Given the description of an element on the screen output the (x, y) to click on. 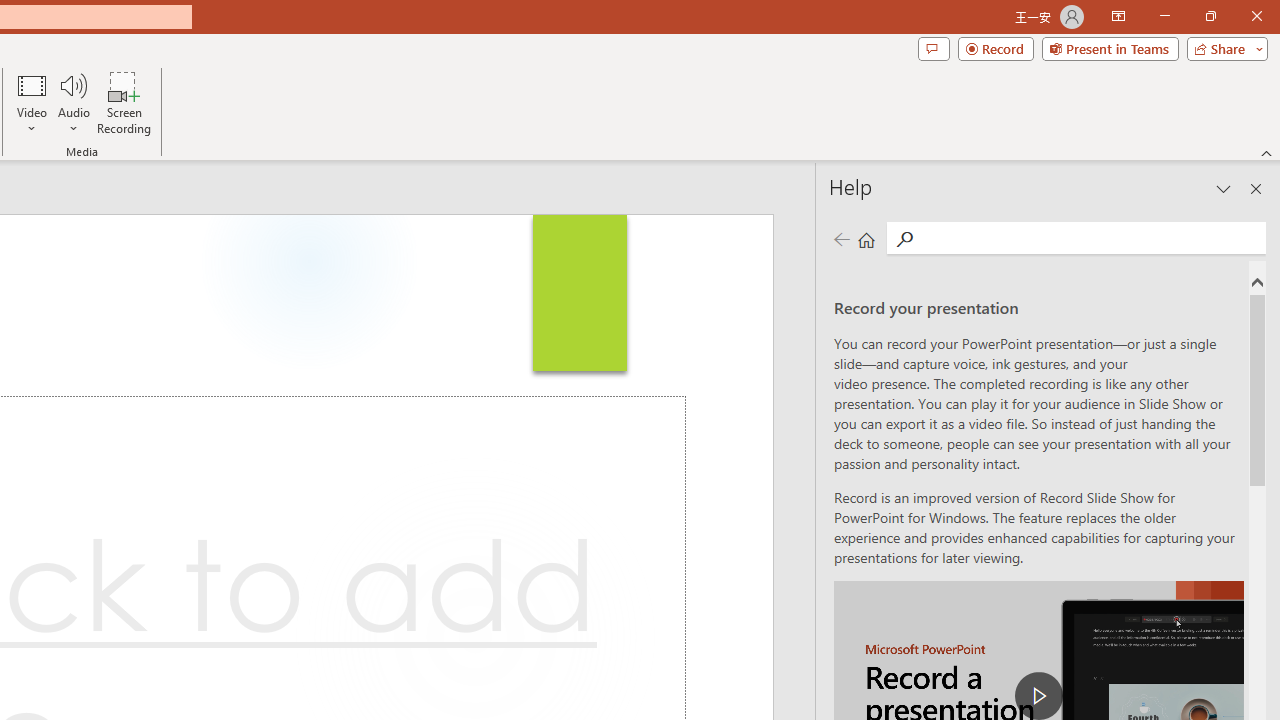
Screen Recording... (123, 102)
